Given the description of an element on the screen output the (x, y) to click on. 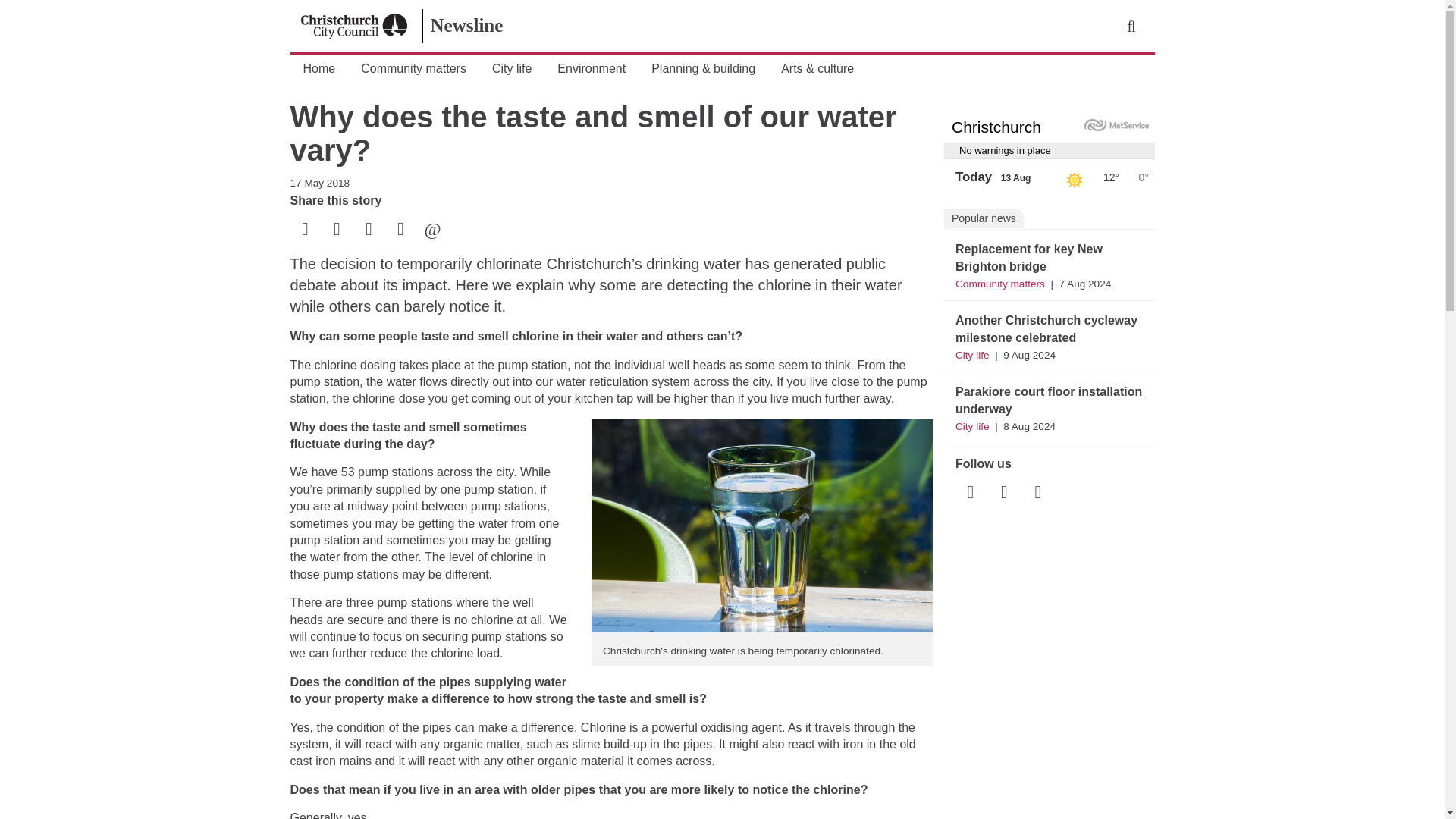
Follow us on X (1003, 493)
City life (972, 426)
Parakiore court floor installation underway (1048, 399)
Facebook share (305, 230)
email share (432, 230)
Share this story by email (431, 230)
Community matters (1000, 283)
Return to homepage (354, 26)
X share (337, 230)
Share this story on LinkedIn (368, 230)
